Given the description of an element on the screen output the (x, y) to click on. 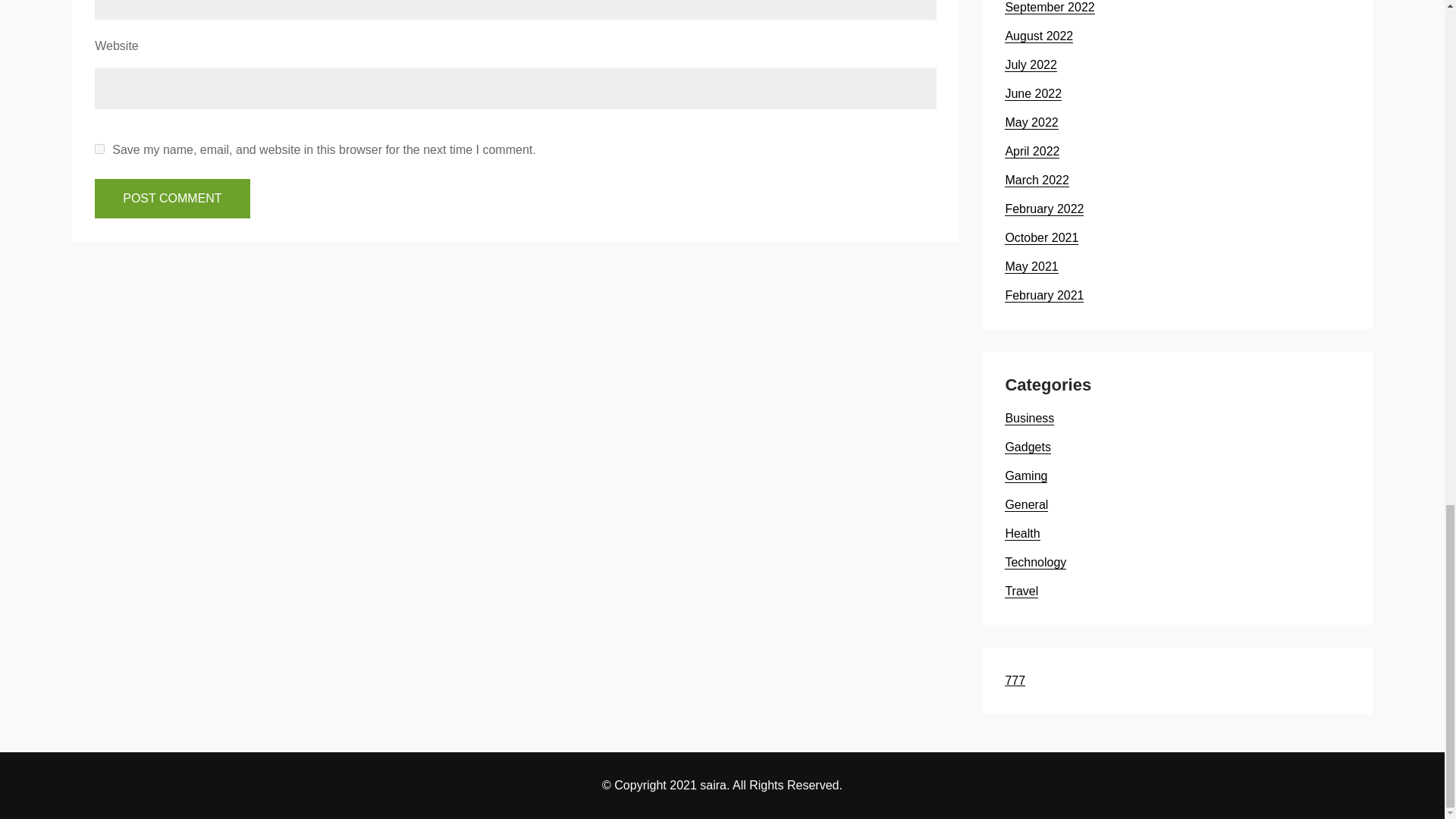
yes (99, 148)
Post Comment (171, 198)
Post Comment (171, 198)
